Given the description of an element on the screen output the (x, y) to click on. 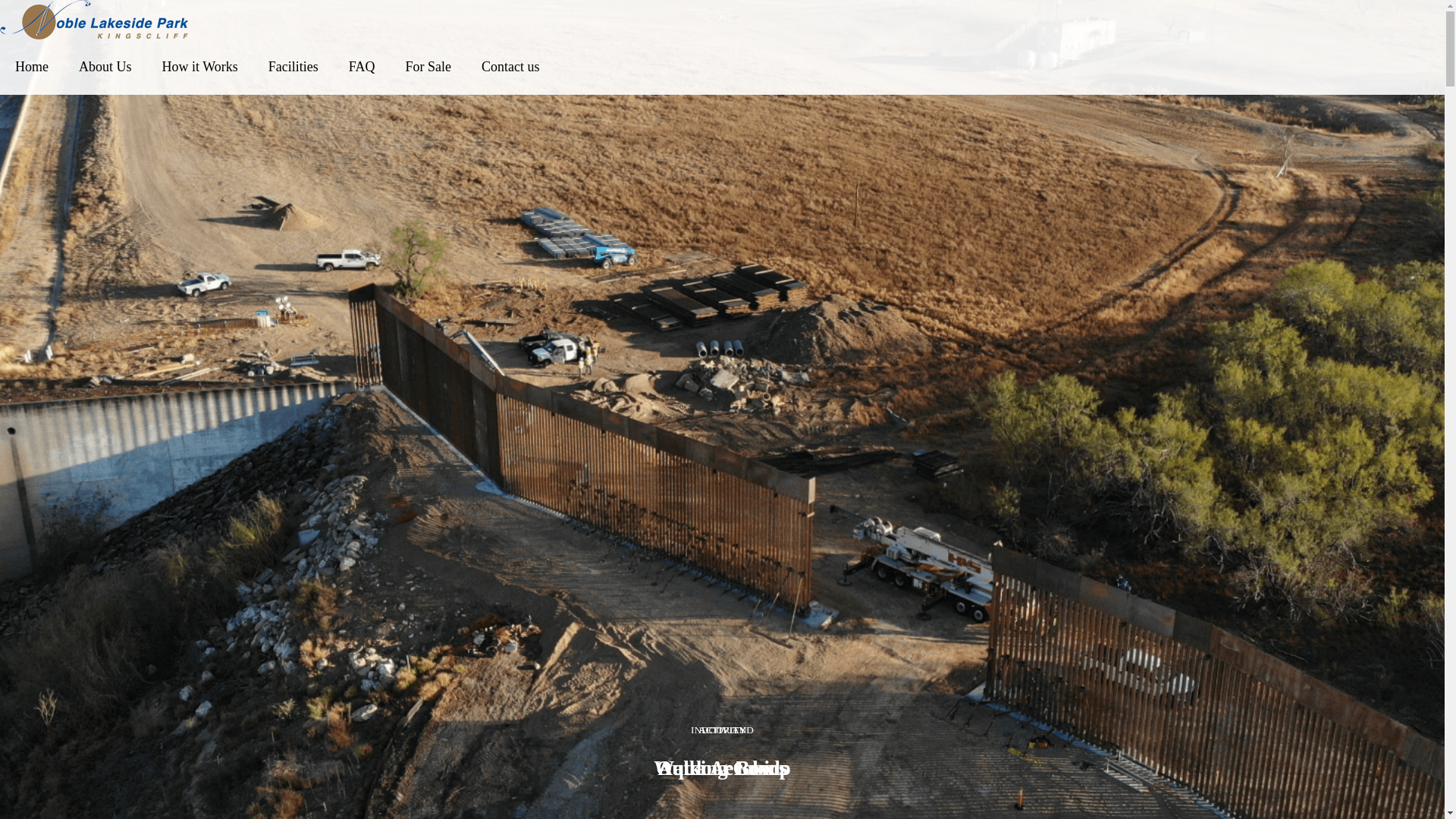
Noble Lakeside Park Element type: hover (722, 19)
How it Works Element type: text (200, 66)
Facilities Element type: text (293, 66)
For Sale Element type: text (427, 66)
FAQ Element type: text (361, 66)
Read our Frequently Asked Questions Element type: text (166, 524)
About Us Element type: text (105, 66)
Home Element type: text (31, 66)
YouTube video player Element type: hover (218, 180)
Contact us Element type: text (510, 66)
